Given the description of an element on the screen output the (x, y) to click on. 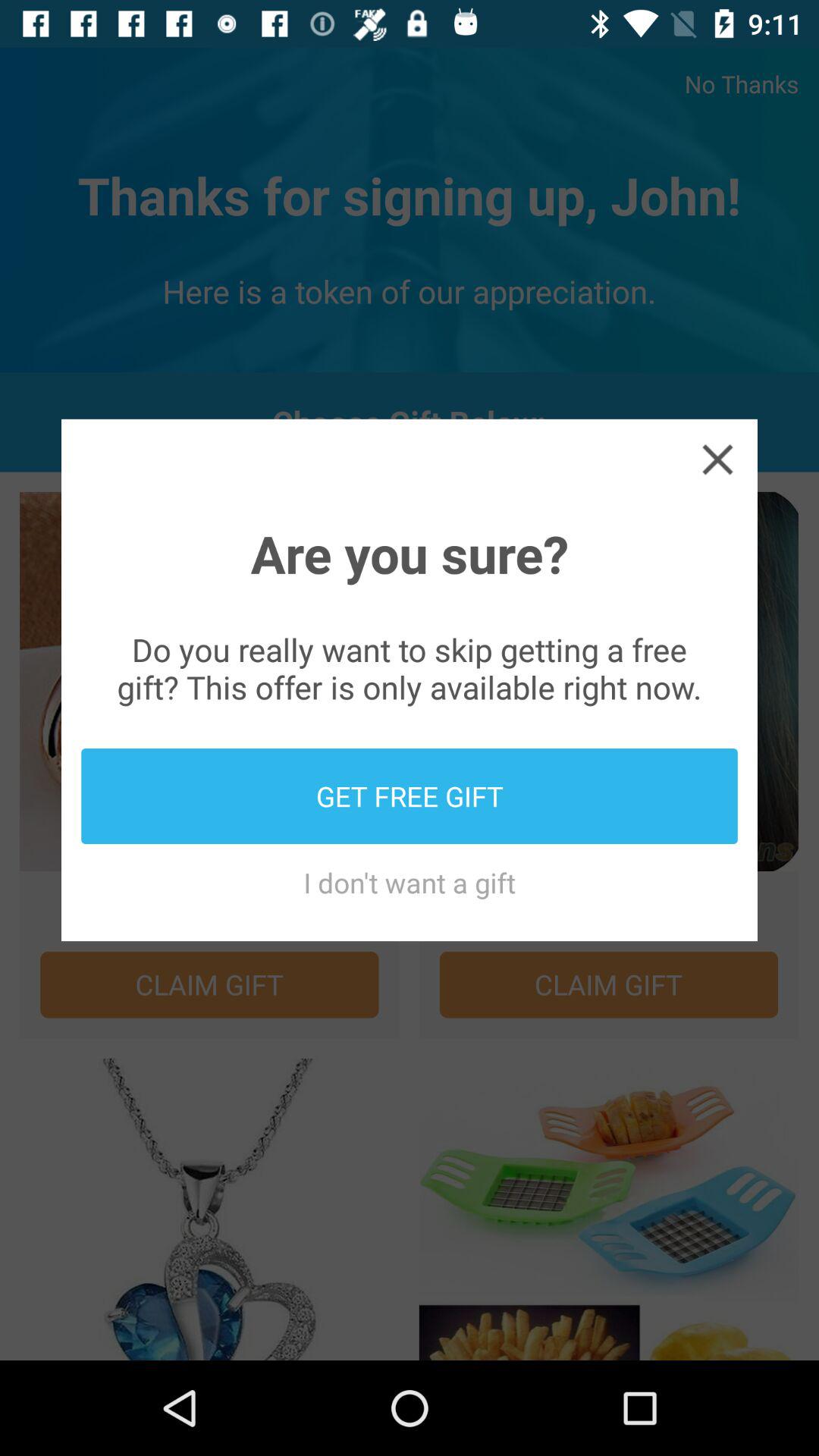
click item above are you sure? icon (717, 458)
